Given the description of an element on the screen output the (x, y) to click on. 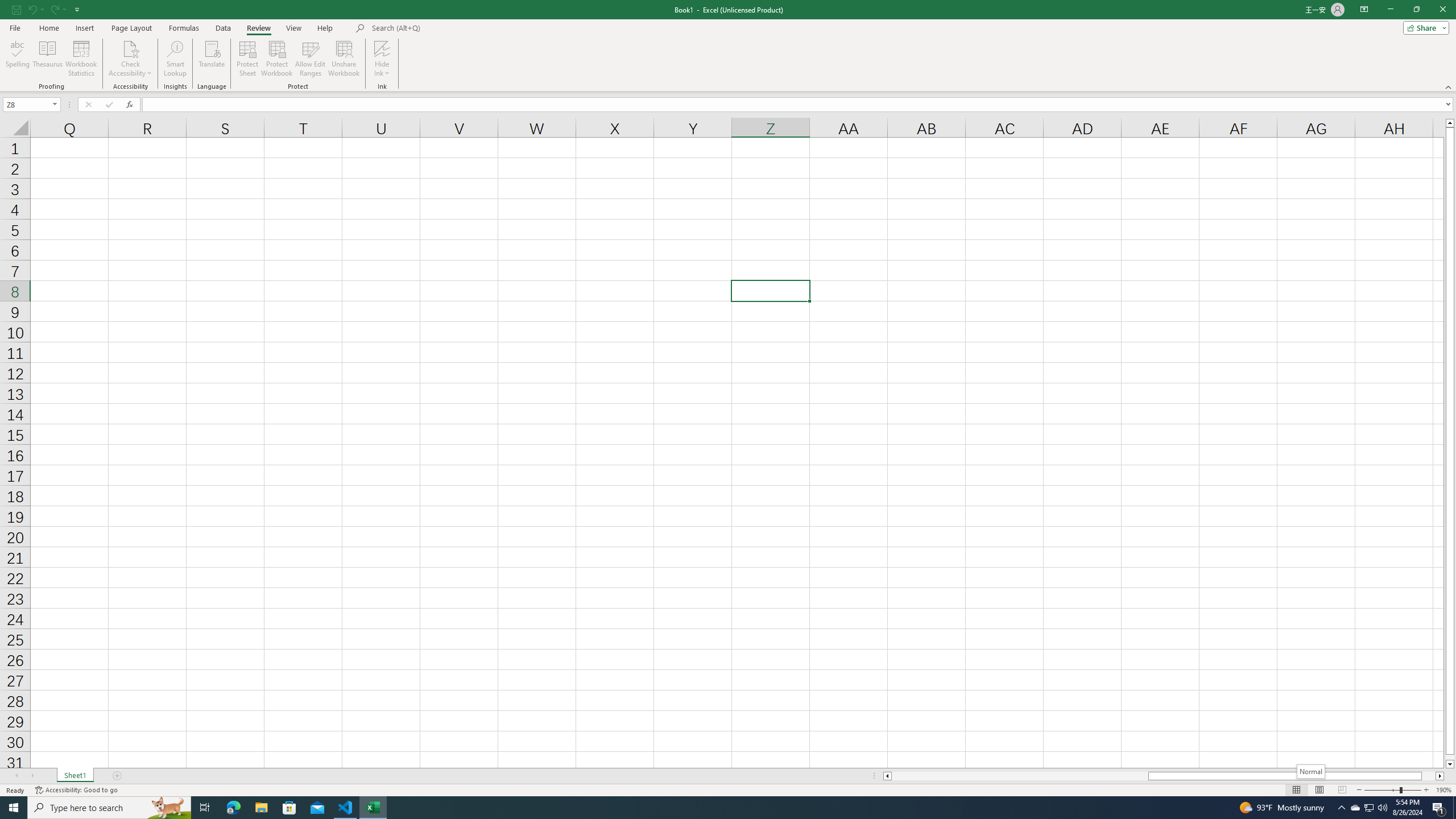
Page left (1019, 775)
Unshare Workbook (344, 58)
Spelling... (17, 58)
